Given the description of an element on the screen output the (x, y) to click on. 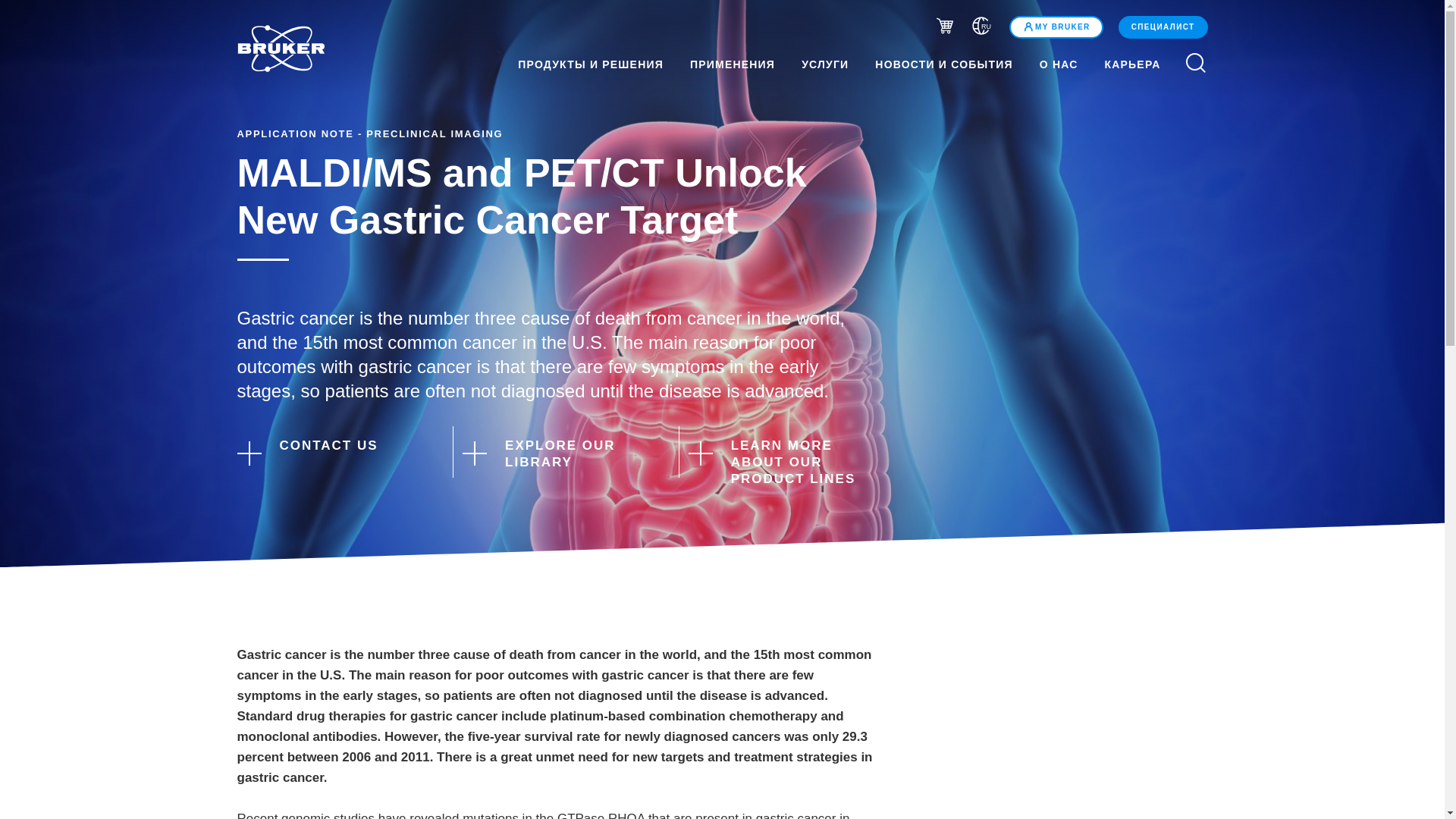
MY BRUKER (1056, 26)
LEARN MORE ABOUT OUR PRODUCT LINES (782, 462)
EXPLORE OUR LIBRARY (557, 453)
CONTACT US (330, 451)
